Given the description of an element on the screen output the (x, y) to click on. 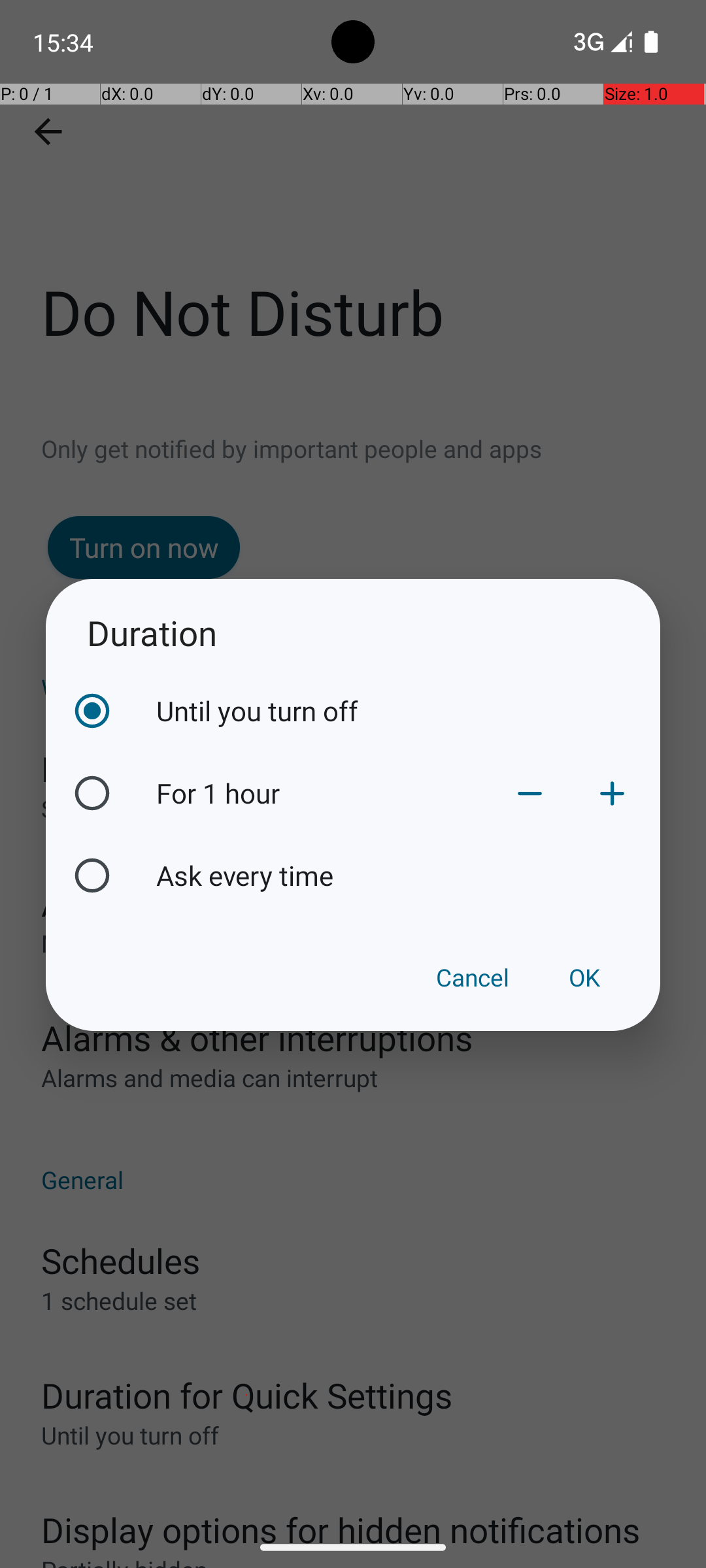
Duration Element type: android.widget.TextView (352, 632)
Less time. Element type: android.widget.ImageView (529, 792)
More time. Element type: android.widget.ImageView (611, 792)
Until you turn off Element type: android.widget.TextView (404, 710)
For 1 hour Element type: android.widget.TextView (322, 792)
Ask every time Element type: android.widget.TextView (404, 874)
